Given the description of an element on the screen output the (x, y) to click on. 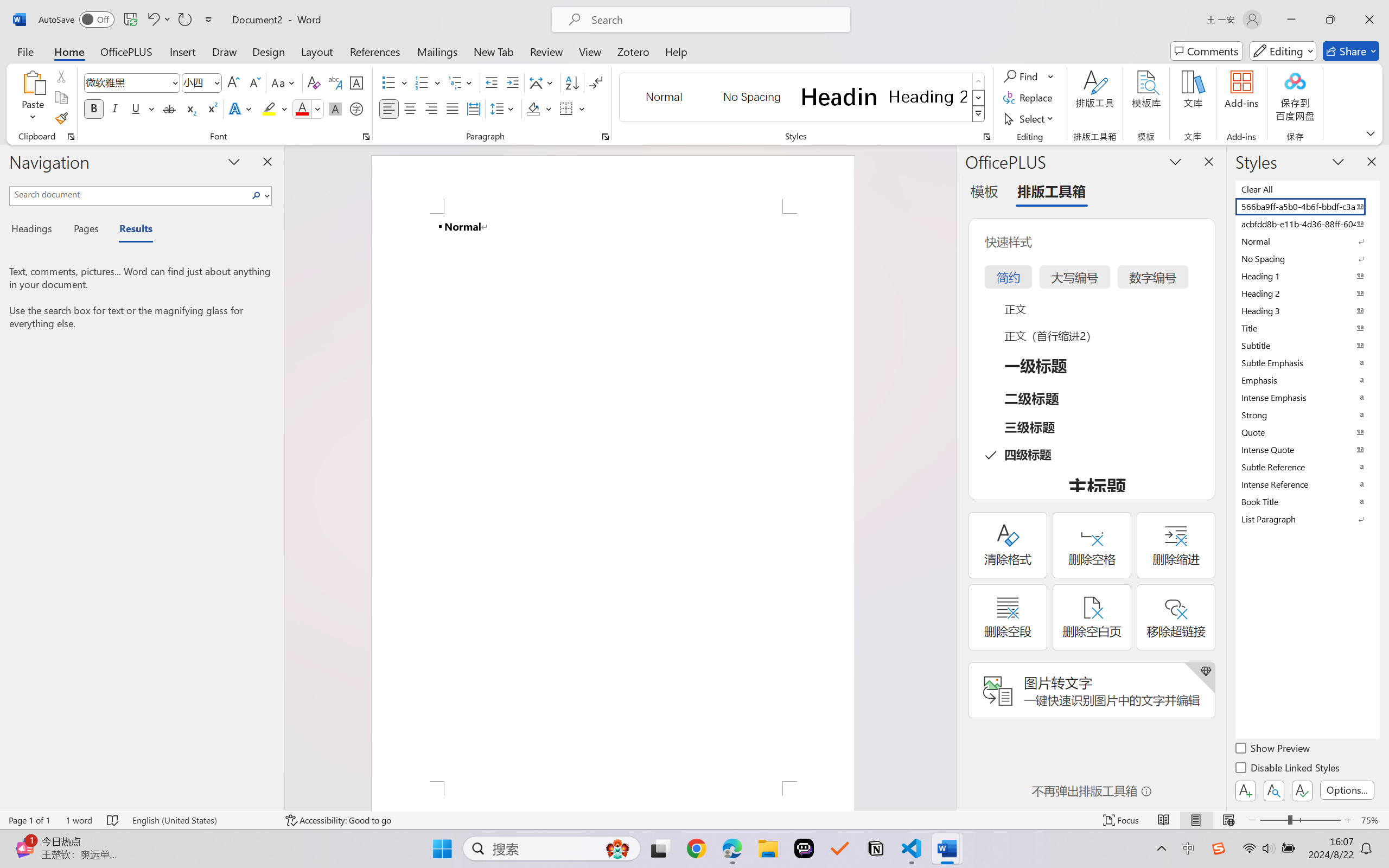
Quote (1306, 431)
